Given the description of an element on the screen output the (x, y) to click on. 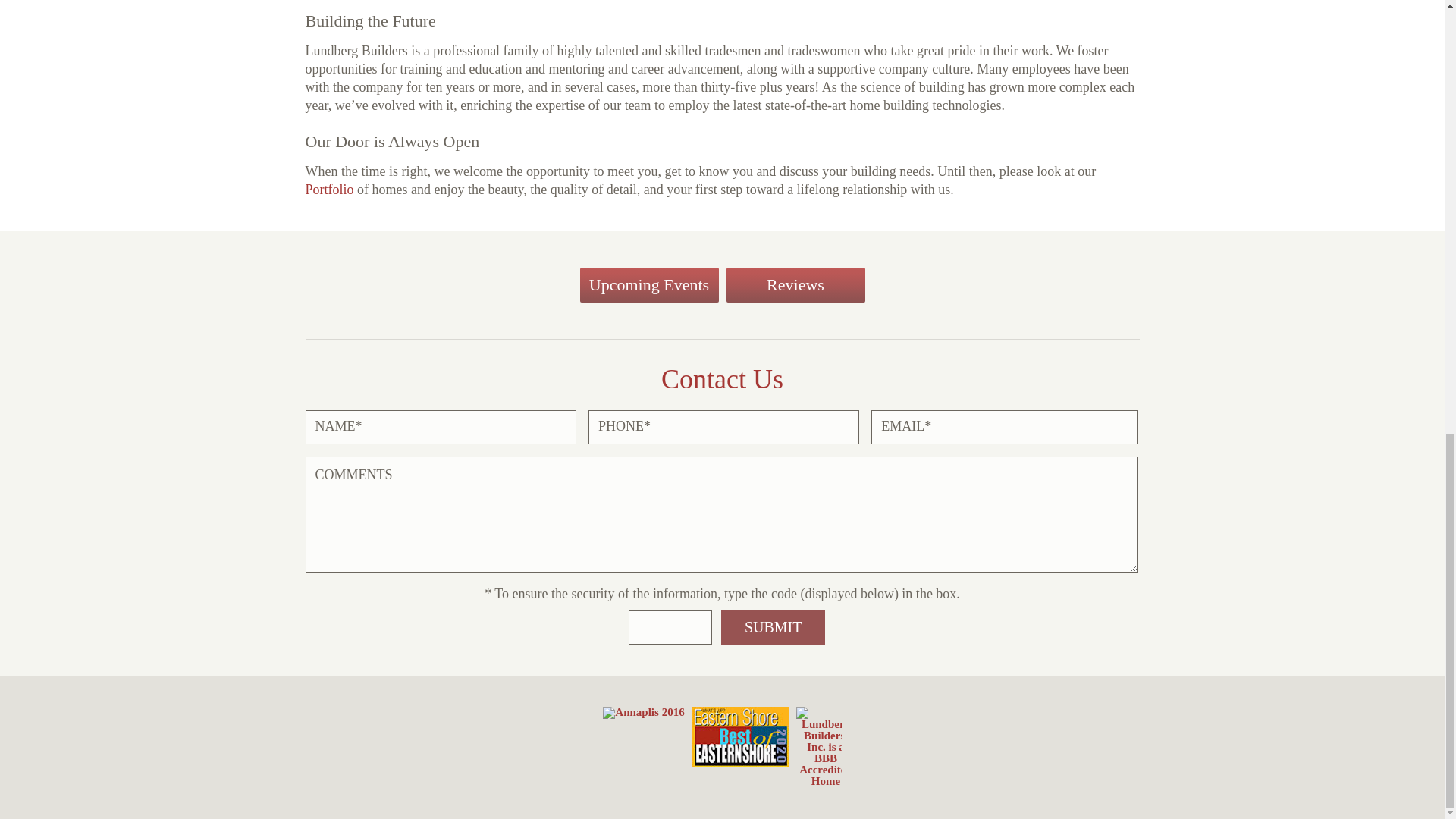
Reviews (795, 284)
Upcoming Events (648, 284)
Portfolio (328, 189)
 submit  (772, 627)
 submit  (772, 627)
